Given the description of an element on the screen output the (x, y) to click on. 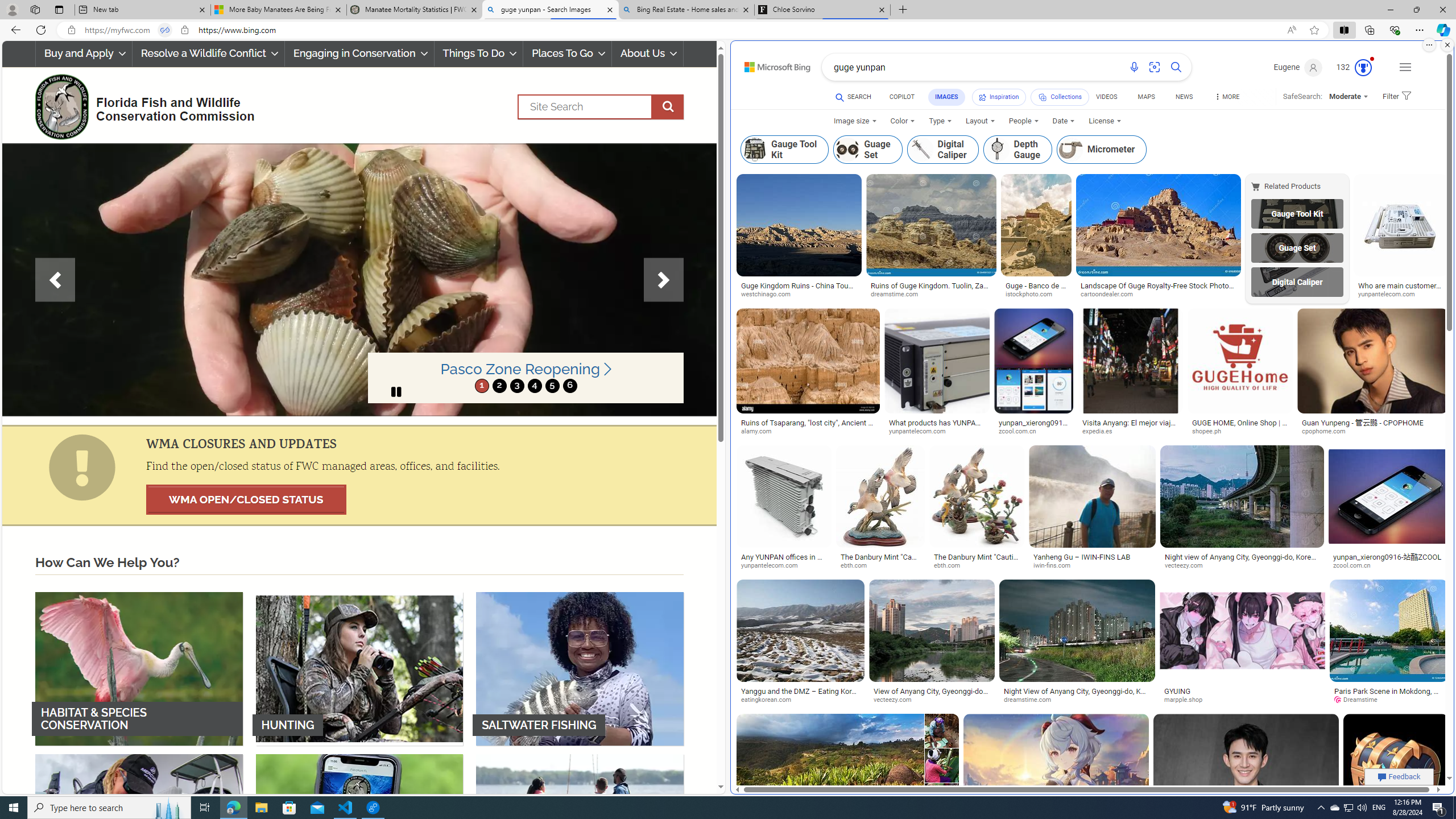
1 (481, 385)
marpple.shop (1242, 699)
FWC Logo Florida Fish and Wildlife Conservation Commission (139, 104)
FWC Logo (61, 106)
License (1104, 121)
Places To Go (566, 53)
